Given the description of an element on the screen output the (x, y) to click on. 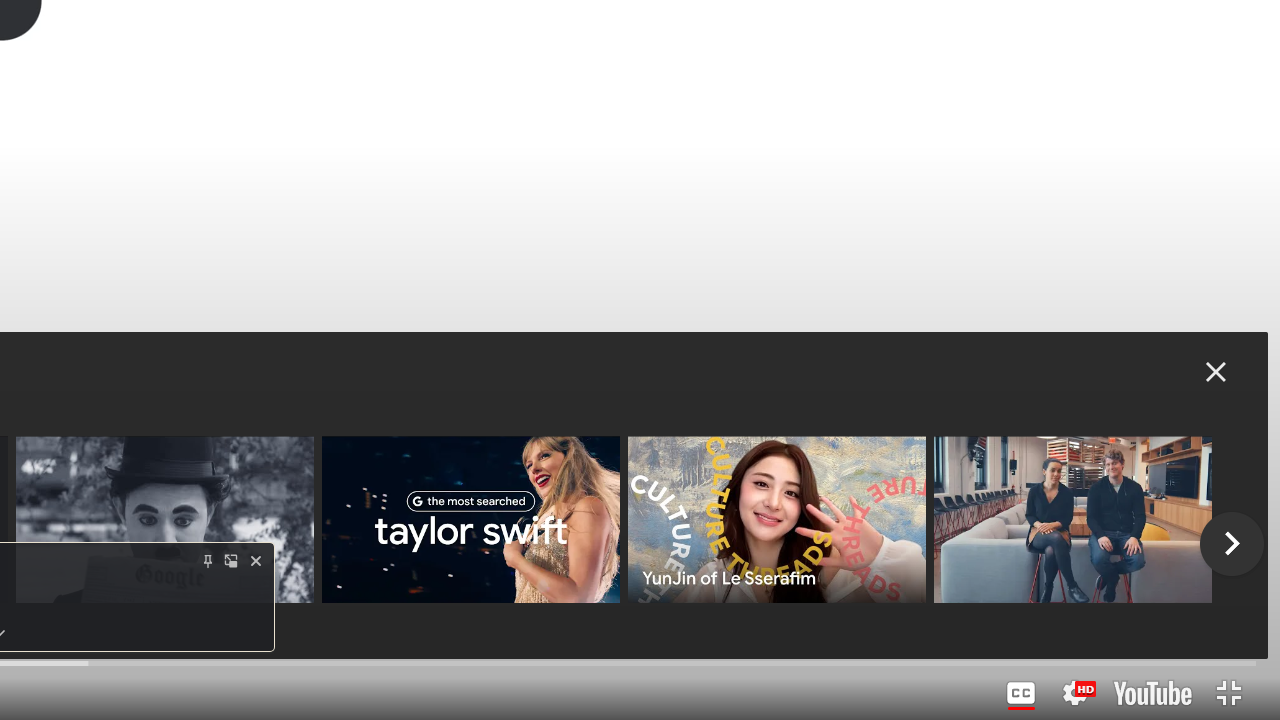
Hide more videos (1215, 371)
Settings (1075, 693)
Teachable Machine 2.0: Making AI easier for everyone (1082, 519)
Watch on YouTube (1151, 693)
Exit full screen (f) (1228, 693)
Show more suggested videos (1232, 543)
Charlie Chaplin Google Doodle (164, 519)
Subtitles/closed captions unavailable (1021, 693)
